Given the description of an element on the screen output the (x, y) to click on. 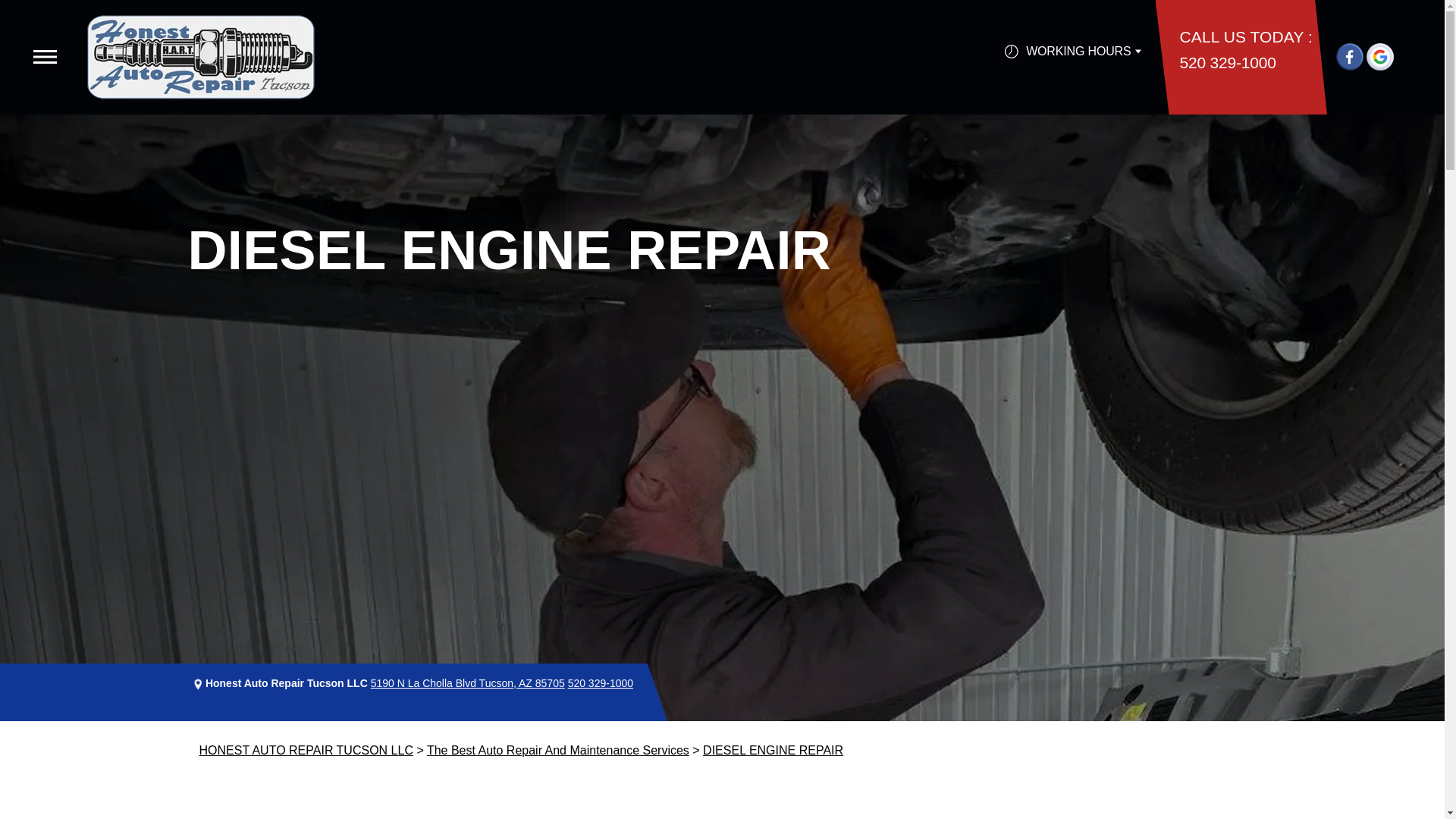
DIESEL ENGINE REPAIR (773, 749)
5190 N La Cholla Blvd Tucson, AZ 85705 (467, 683)
open-navigation-button (44, 56)
520 329-1000 (1227, 61)
HONEST AUTO REPAIR TUCSON LLC (305, 749)
520 329-1000 (600, 683)
The Best Auto Repair And Maintenance Services (557, 749)
